Given the description of an element on the screen output the (x, y) to click on. 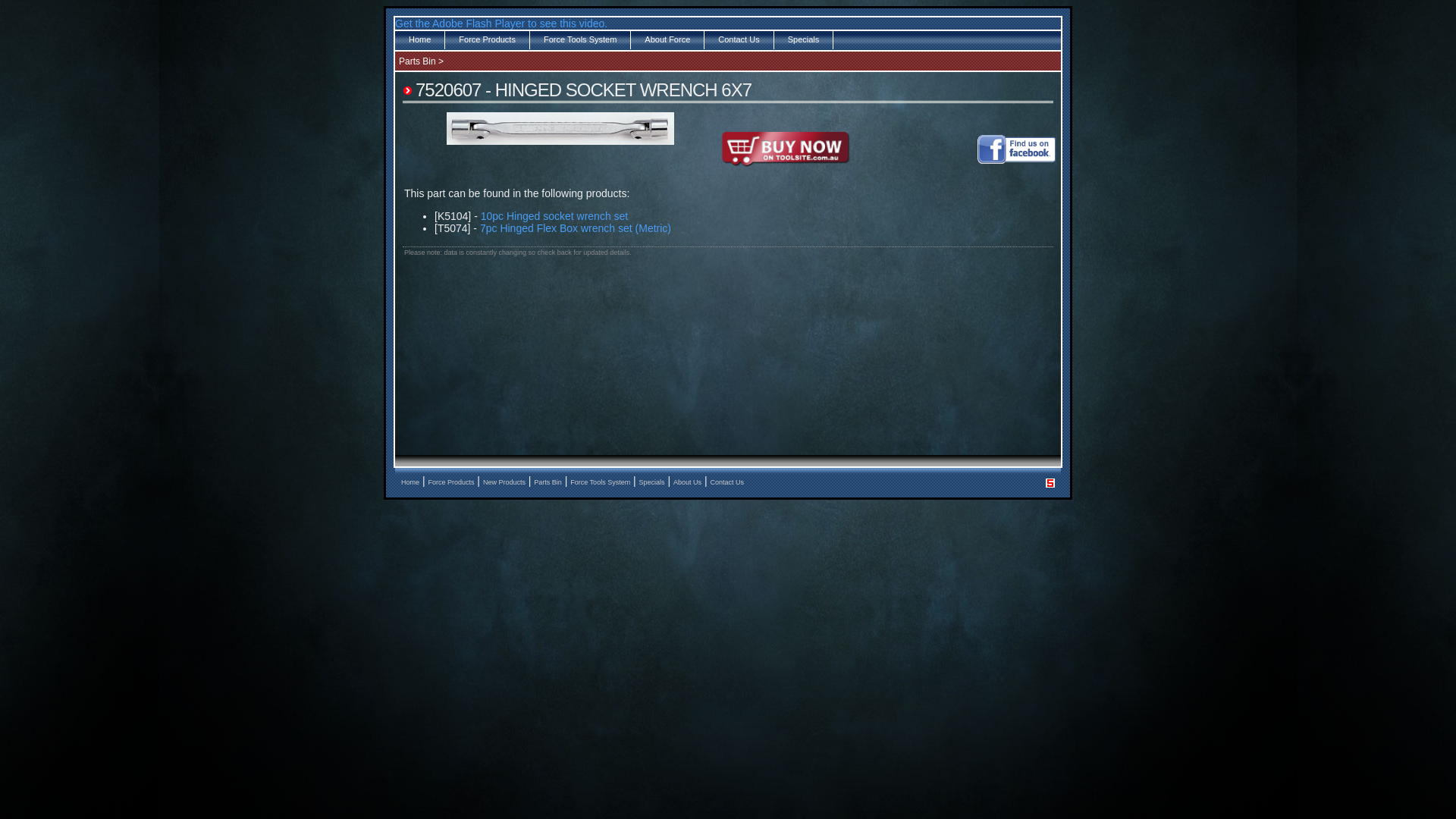
Contact Us Element type: text (726, 482)
Specials Element type: text (652, 482)
Force Products Element type: text (450, 482)
Parts Bin Element type: text (417, 61)
Force Products Element type: text (487, 39)
Parts Bin Element type: text (547, 482)
Home Element type: text (410, 482)
Home Element type: text (420, 39)
New Products Element type: text (504, 482)
About Force Element type: text (667, 39)
Force Tools System Element type: text (580, 39)
10pc Hinged socket wrench set Element type: text (554, 216)
Contact Us Element type: text (738, 39)
Get the Adobe Flash Player to see this video. Element type: text (501, 23)
About Us Element type: text (687, 482)
Force Tools System Element type: text (600, 482)
7pc Hinged Flex Box wrench set (Metric) Element type: text (575, 228)
Specials Element type: text (804, 39)
